Given the description of an element on the screen output the (x, y) to click on. 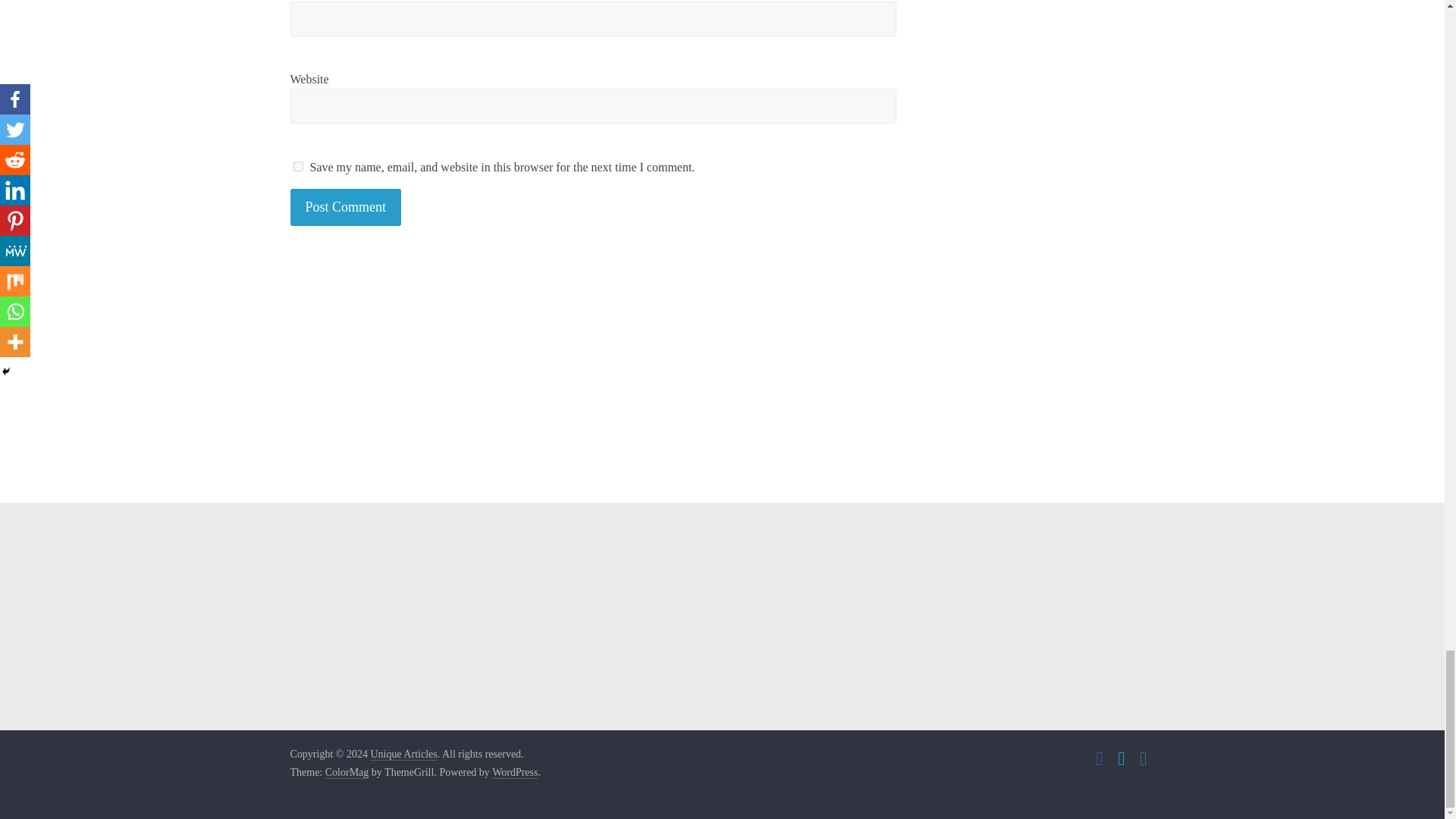
yes (297, 166)
Post Comment (345, 207)
